Given the description of an element on the screen output the (x, y) to click on. 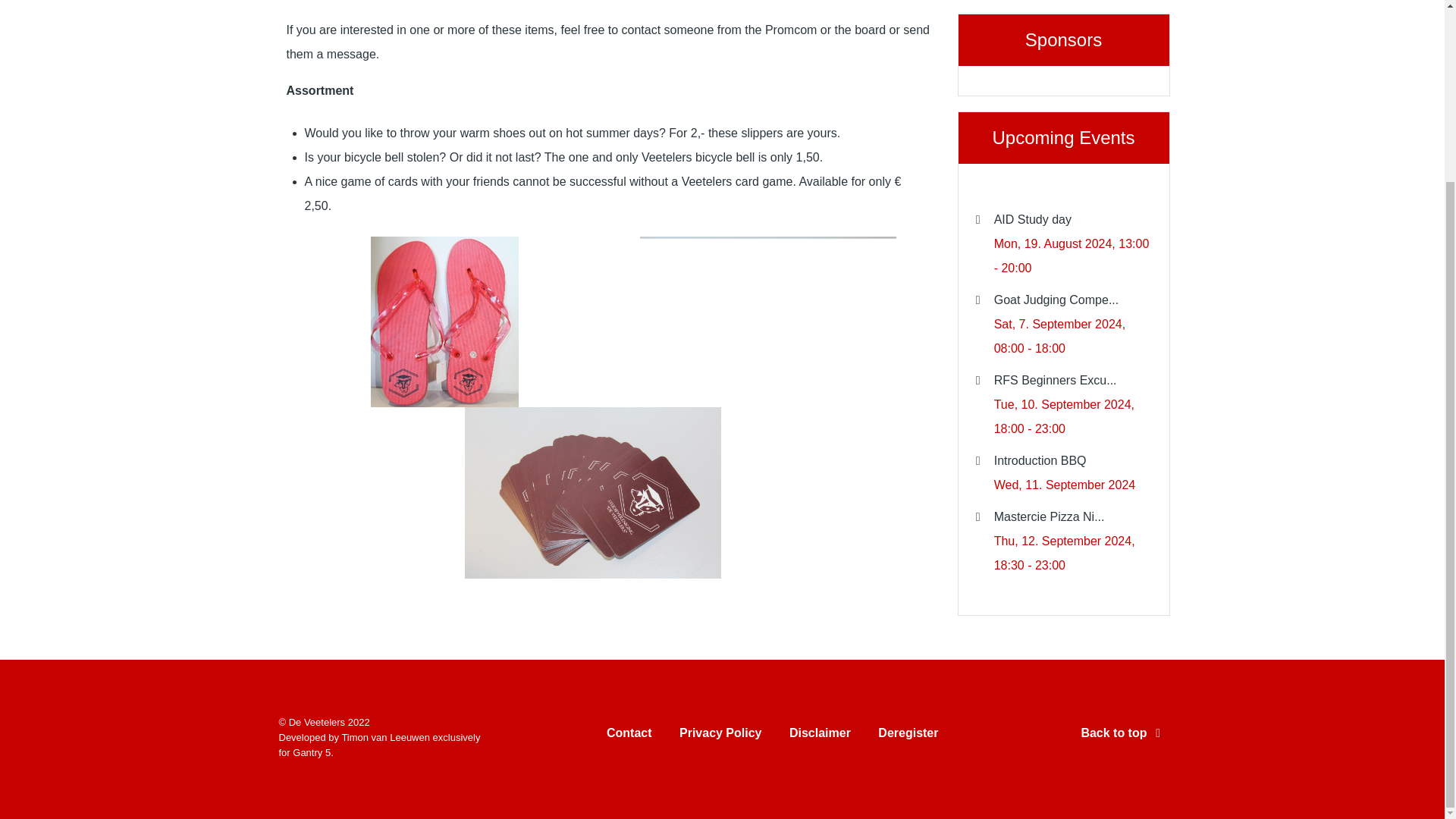
Mon, 19. August 2024, 13:00 - 20:00 (1072, 255)
Disclaimer (819, 736)
Privacy Policy (720, 736)
Wed, 11. September 2024 (1064, 484)
Tue, 10. September 2024, 18:00 - 23:00 (1064, 416)
Contact (629, 736)
Sponsors (1062, 54)
Thu, 12. September 2024, 18:30 - 23:00 (1064, 552)
Deregister (907, 736)
Sat, 7. September 2024, 08:00 - 18:00 (1059, 335)
